Given the description of an element on the screen output the (x, y) to click on. 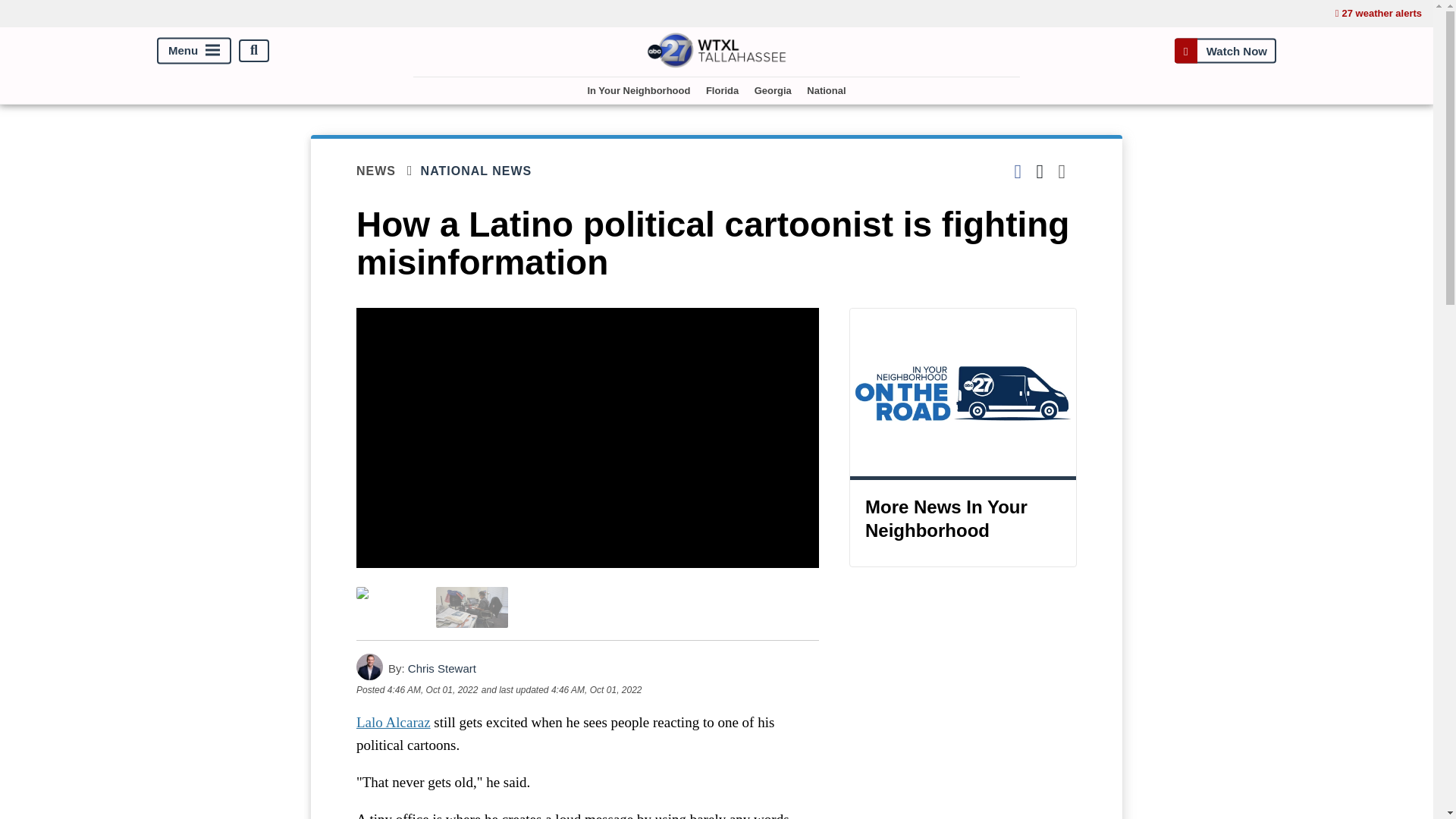
Menu (194, 49)
Watch Now (1224, 50)
